Given the description of an element on the screen output the (x, y) to click on. 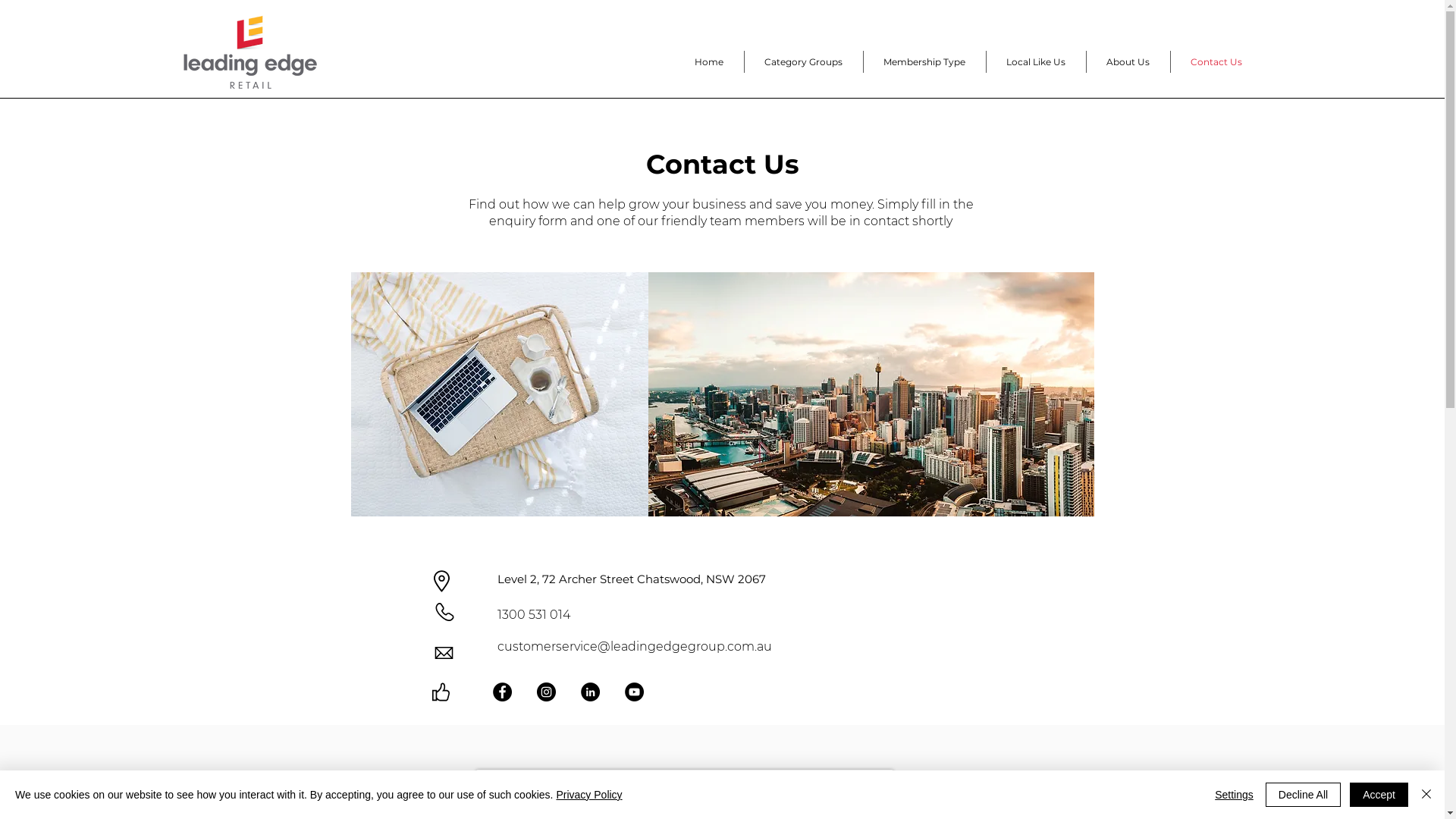
Category Groups Element type: text (803, 61)
Membership Type Element type: text (924, 61)
Decline All Element type: text (1302, 794)
About Us Element type: text (1128, 61)
Local Like Us Element type: text (1035, 61)
Privacy Policy Element type: text (588, 794)
Contact Us Element type: text (1216, 61)
Home Element type: text (708, 61)
Accept Element type: text (1378, 794)
customerservice@leadingedgegroup.com.au Element type: text (634, 646)
